Given the description of an element on the screen output the (x, y) to click on. 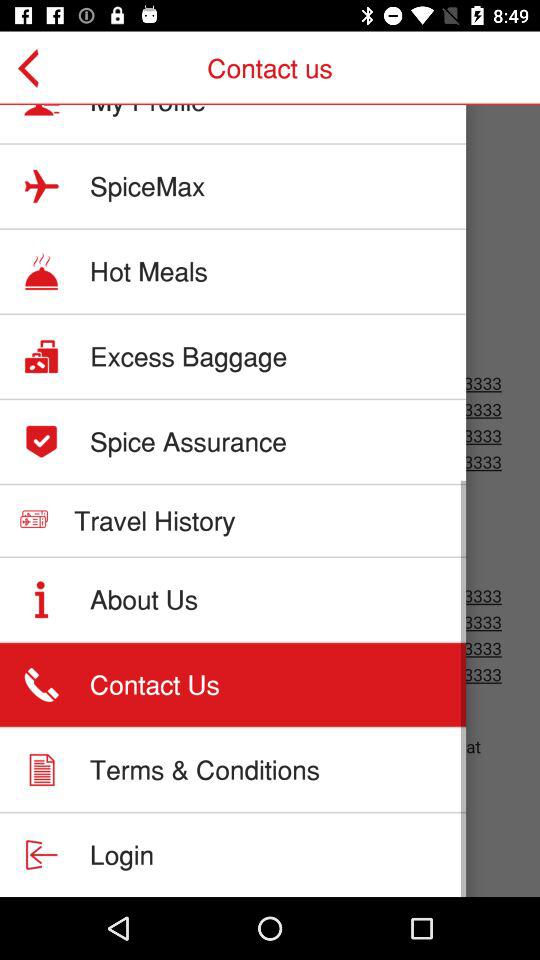
tap the spice assurance item (188, 441)
